Given the description of an element on the screen output the (x, y) to click on. 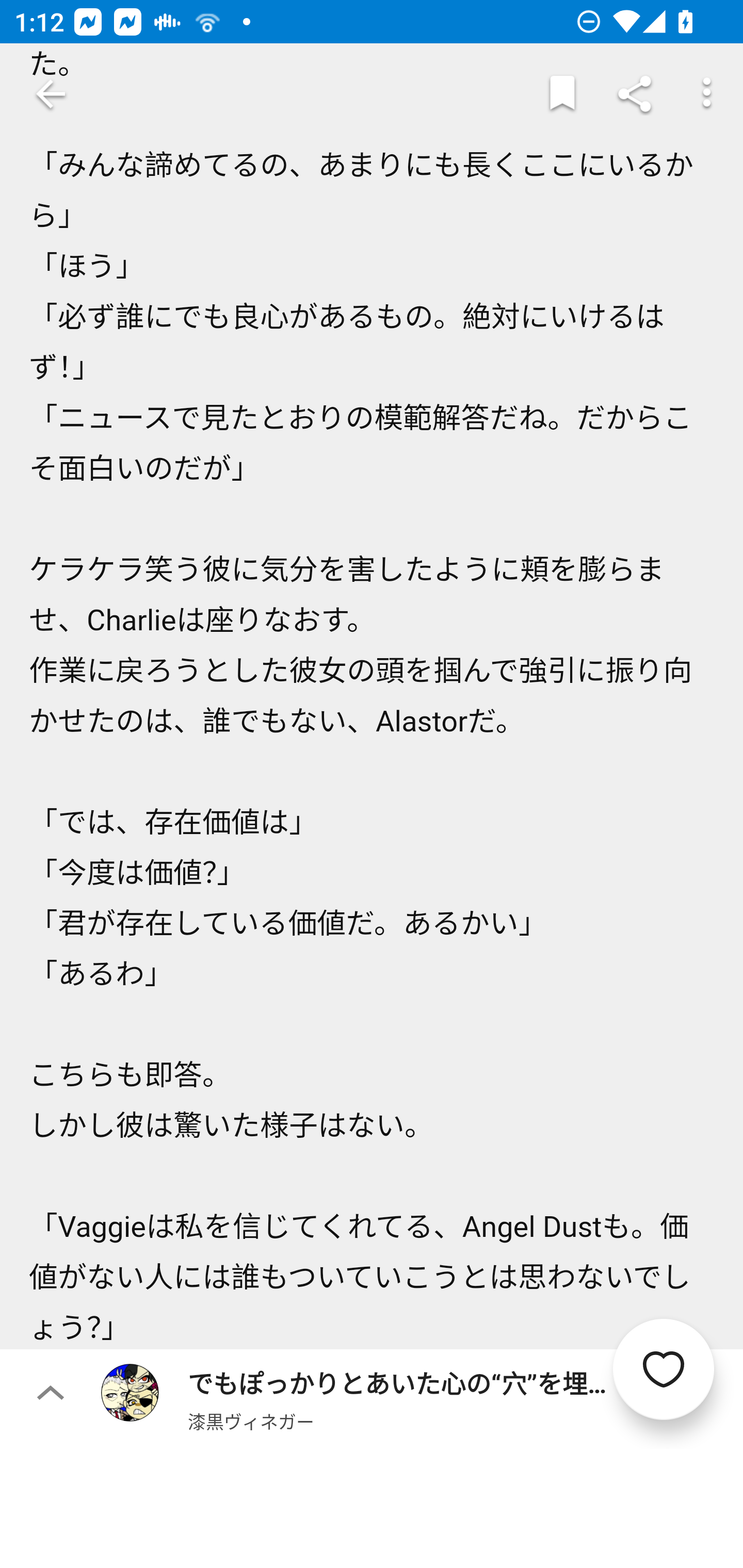
Navigate up (50, 93)
Markers (562, 93)
Share (634, 93)
More options (706, 93)
漆黒ヴィネガー (250, 1421)
